Given the description of an element on the screen output the (x, y) to click on. 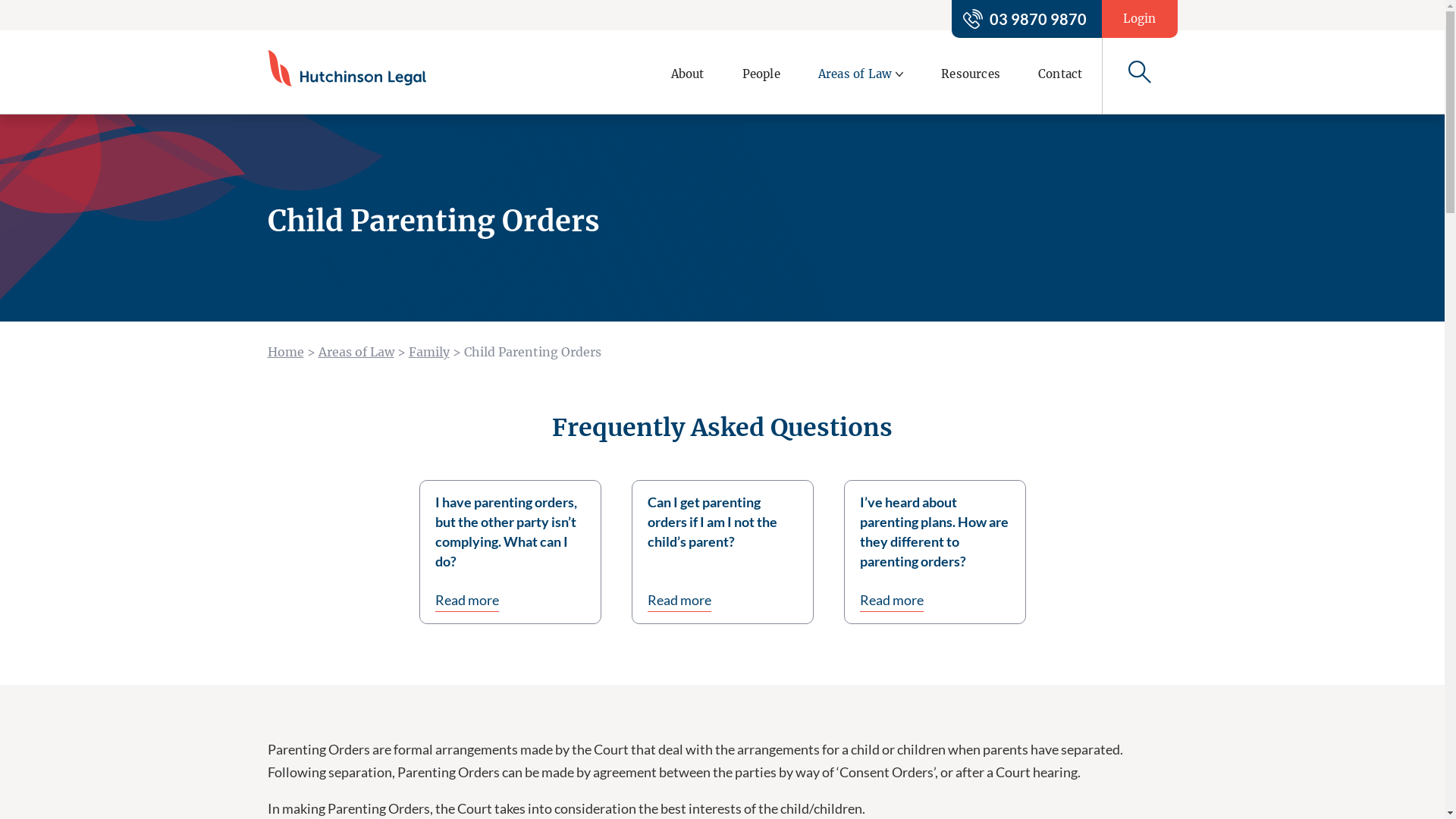
Areas of Law Element type: text (860, 71)
Login Element type: text (1138, 18)
Contact Element type: text (1060, 71)
People Element type: text (761, 71)
Family Element type: text (427, 352)
03 9870 9870 Element type: text (1025, 18)
Areas of Law Element type: text (356, 352)
Home Element type: text (284, 352)
About Element type: text (687, 71)
Resources Element type: text (970, 71)
